Given the description of an element on the screen output the (x, y) to click on. 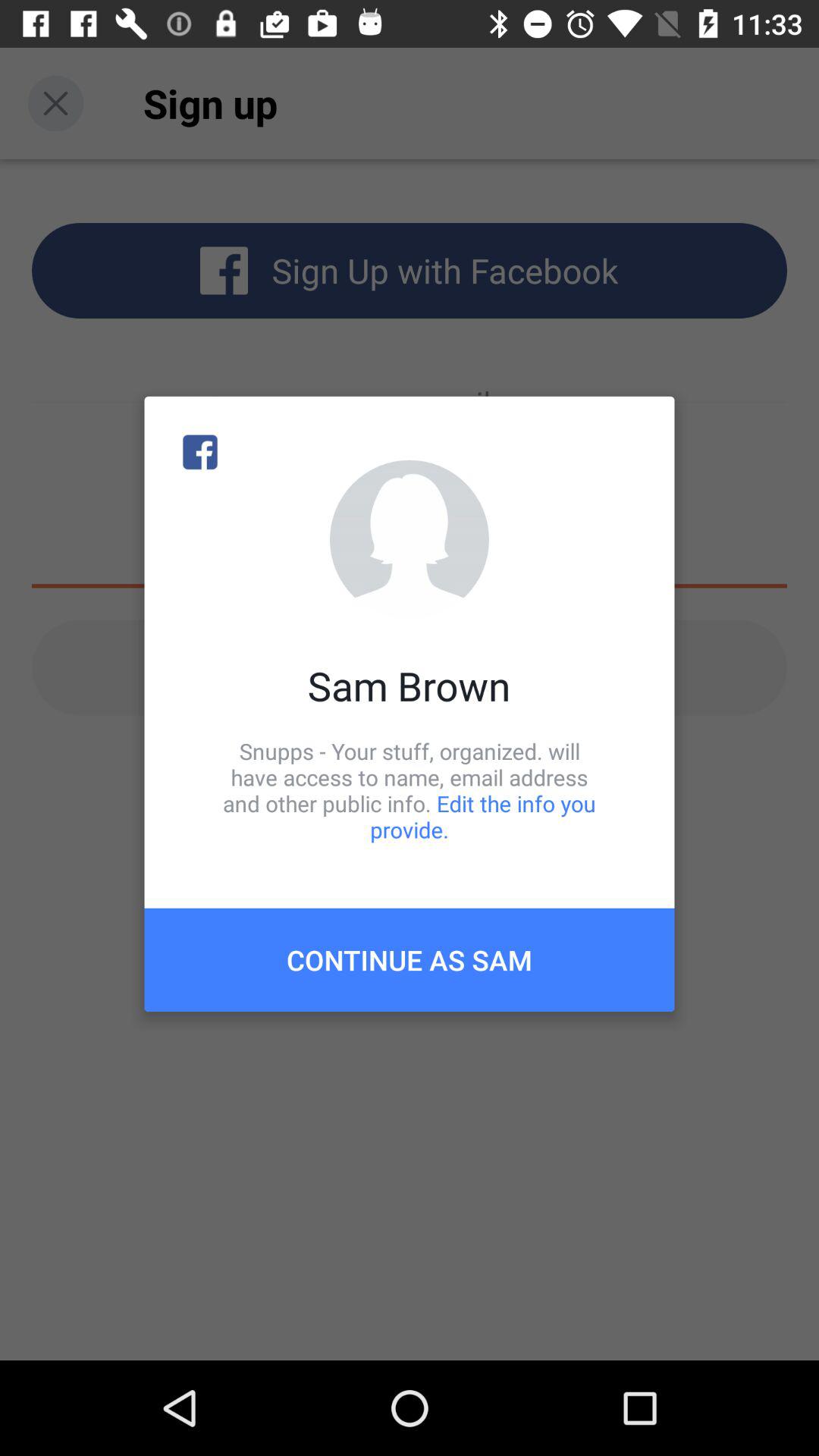
scroll to continue as sam (409, 959)
